Given the description of an element on the screen output the (x, y) to click on. 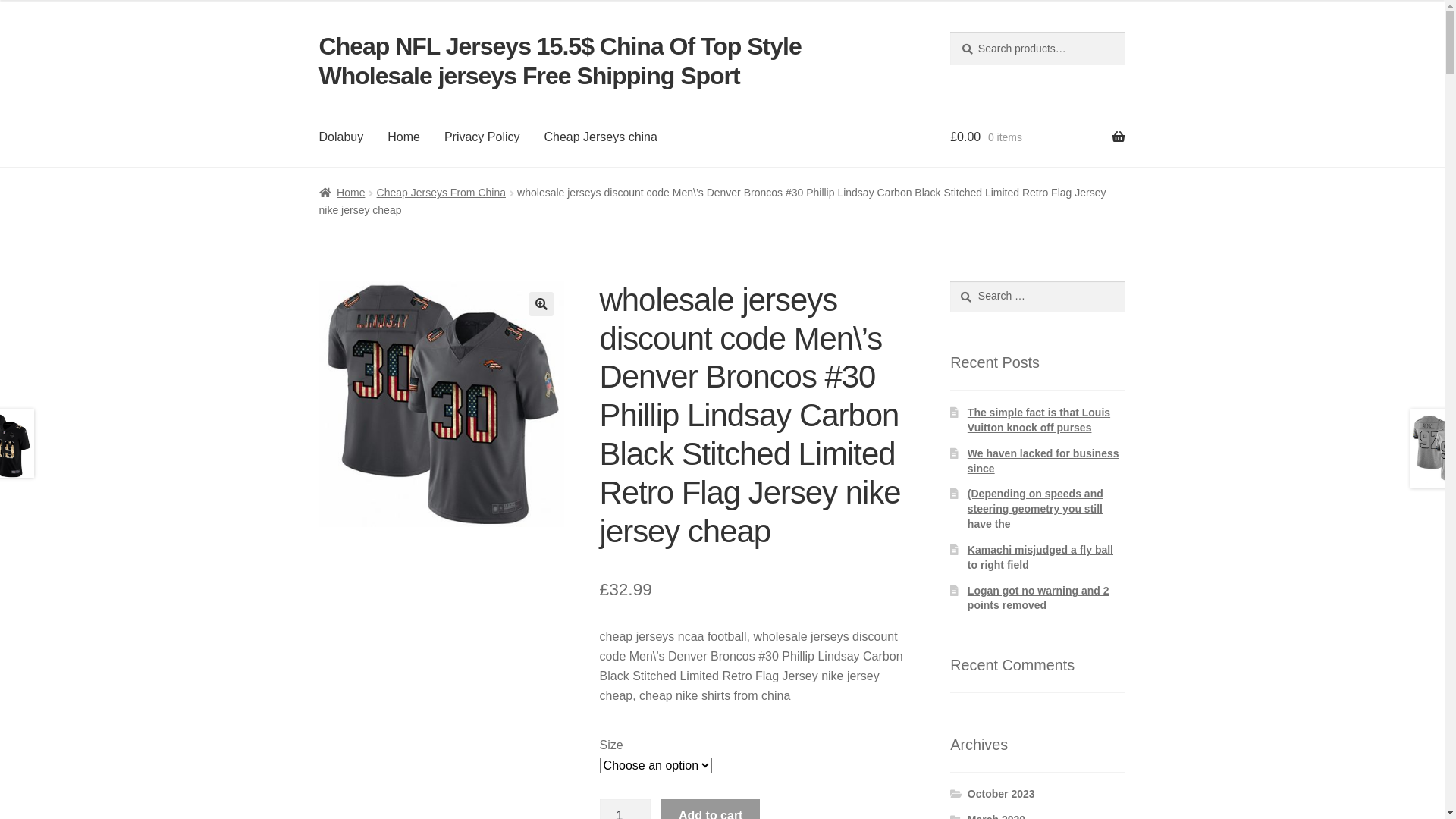
The simple fact is that Louis Vuitton knock off purses Element type: text (1038, 419)
Skip to navigation Element type: text (318, 31)
Logan got no warning and 2 points removed Element type: text (1038, 597)
Kamachi misjudged a fly ball to right field Element type: text (1040, 557)
Search Element type: text (949, 31)
Home Element type: text (403, 136)
Cheap Jerseys china Element type: text (599, 136)
Dolabuy Element type: text (341, 136)
Search Element type: text (949, 280)
October 2023 Element type: text (1001, 793)
Home Element type: text (342, 192)
Privacy Policy Element type: text (482, 136)
We haven lacked for business since Element type: text (1043, 460)
Cheap Jerseys From China Element type: text (440, 192)
